Given the description of an element on the screen output the (x, y) to click on. 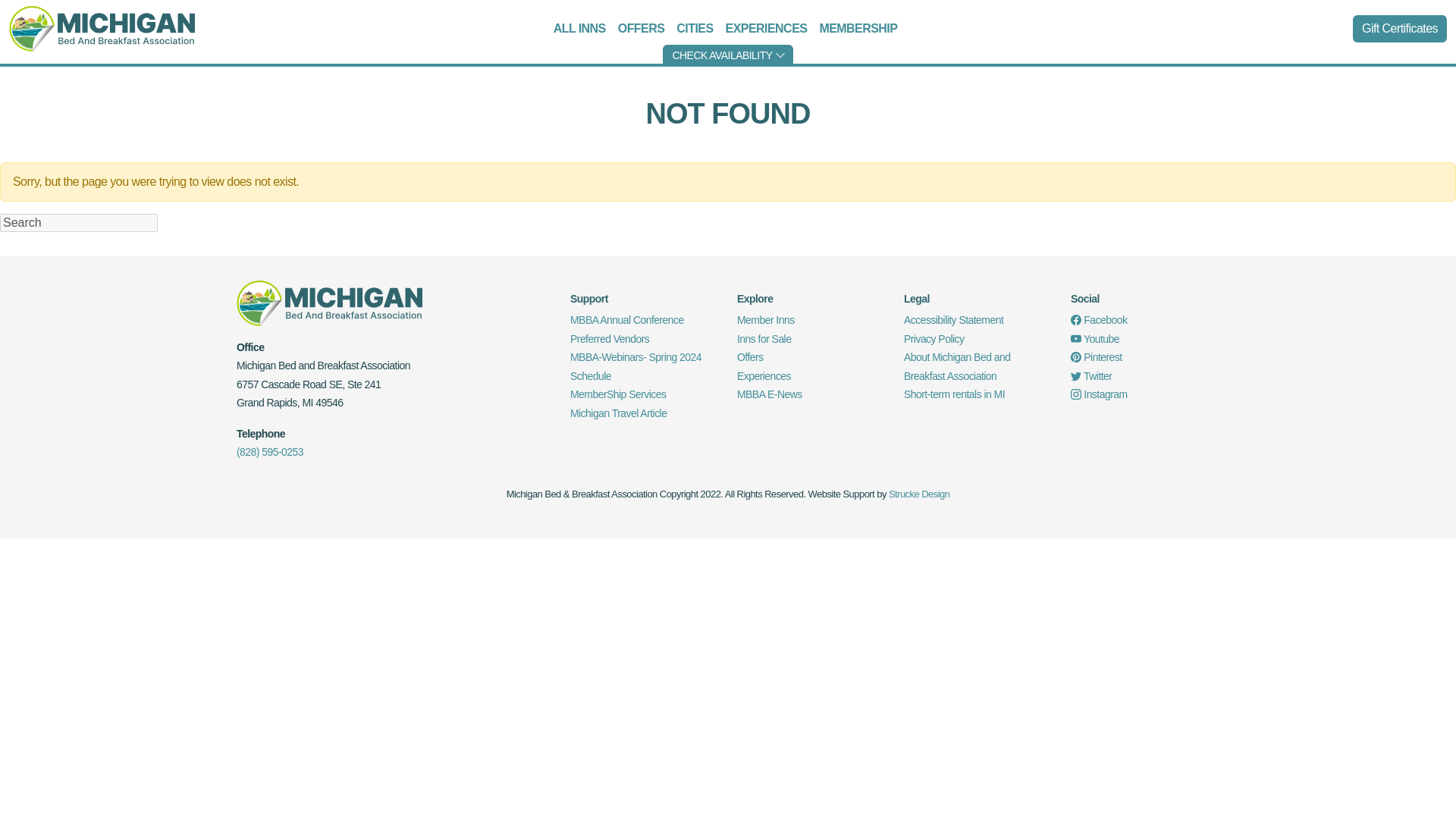
Search (78, 222)
Gift Certificates (1399, 28)
OFFERS (641, 28)
EXPERIENCES (766, 28)
CITIES (694, 28)
CHECK AVAILABILITY (727, 54)
MEMBERSHIP (857, 28)
ALL INNS (579, 28)
